Given the description of an element on the screen output the (x, y) to click on. 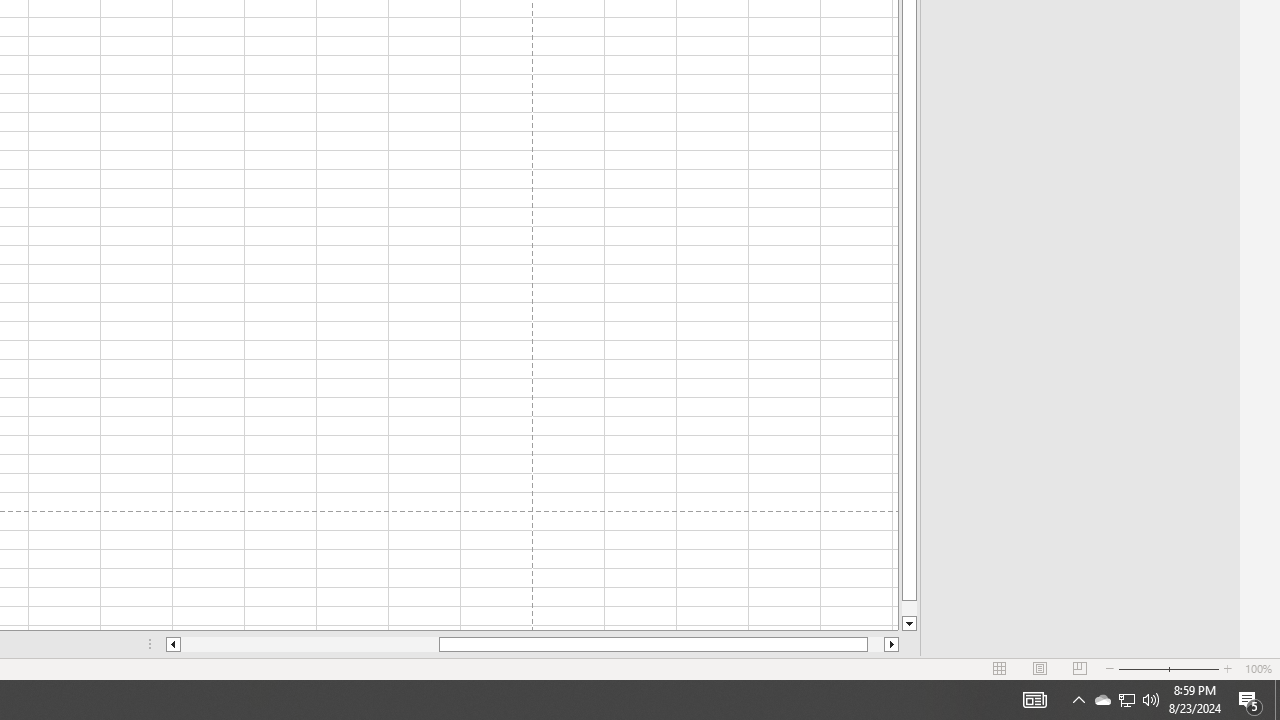
Page Break Preview (1079, 668)
Notification Chevron (1102, 699)
Q2790: 100% (1078, 699)
Action Center, 5 new notifications (1151, 699)
Column right (1250, 699)
AutomationID: 4105 (892, 644)
Column left (1034, 699)
Show desktop (171, 644)
Zoom Out (1277, 699)
Normal (1142, 668)
Page right (1000, 668)
Page Layout (875, 644)
Zoom (1039, 668)
